Given the description of an element on the screen output the (x, y) to click on. 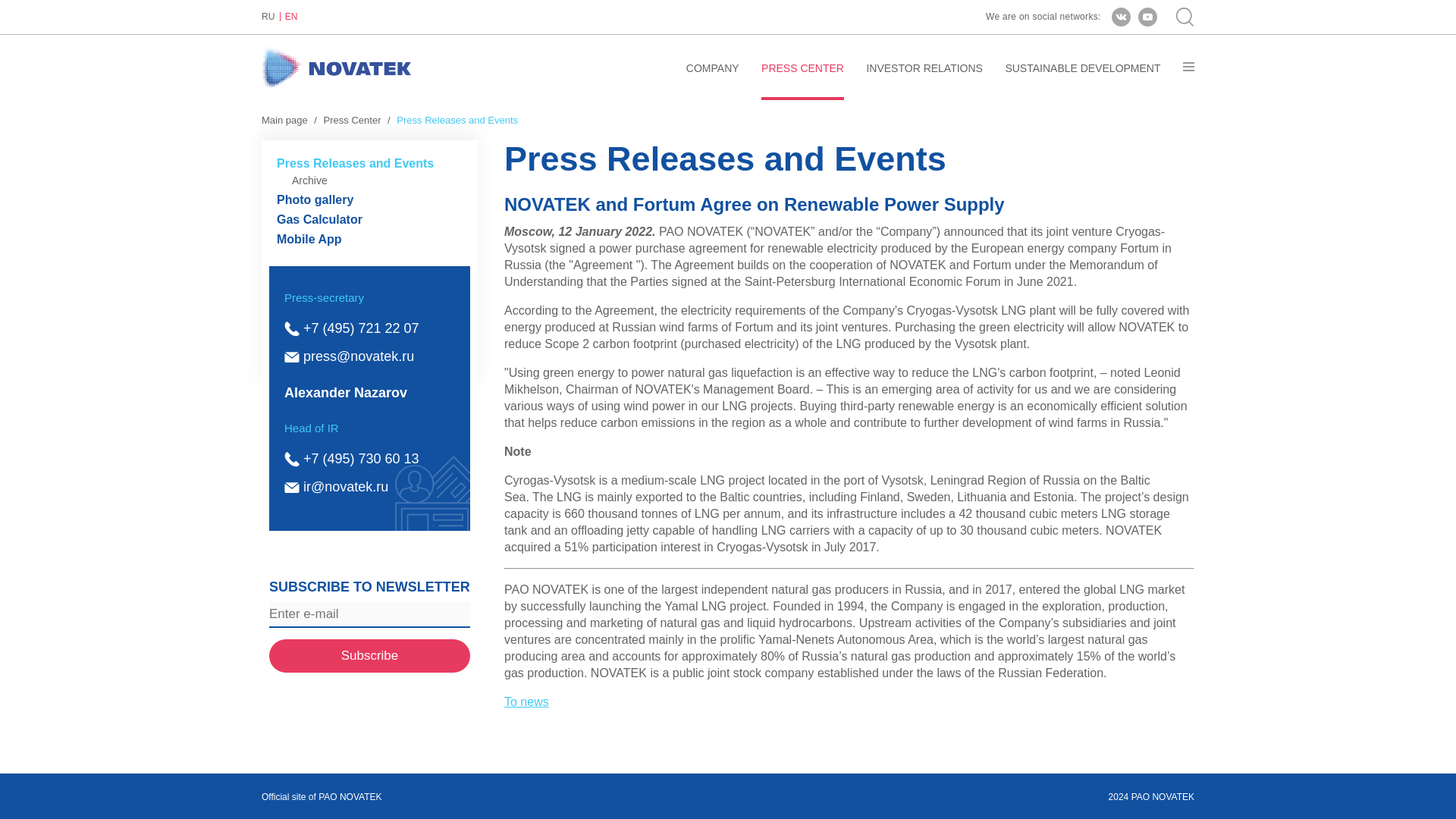
Subscribe (369, 655)
EN (291, 17)
COMPANY (712, 80)
PRESS CENTER (802, 80)
RU (272, 17)
SUSTAINABLE DEVELOPMENT (1082, 80)
INVESTOR RELATIONS (924, 80)
